Given the description of an element on the screen output the (x, y) to click on. 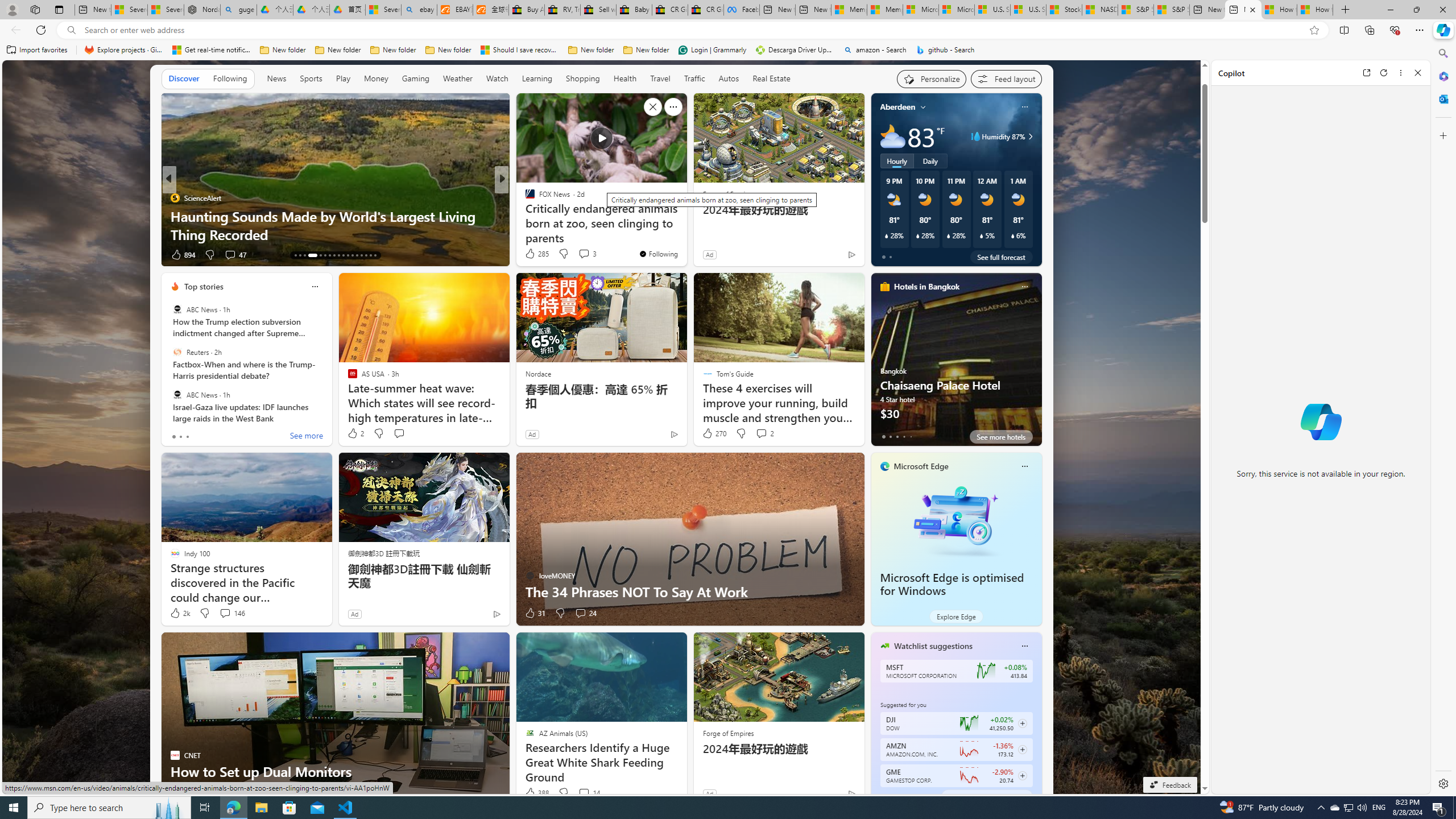
The Cool Down (524, 197)
Discover (183, 78)
Side bar (1443, 418)
AutomationID: tab-22 (343, 255)
Favorites bar (715, 49)
Humidity 87% (1028, 136)
Chaisaeng Palace Hotel (956, 363)
Class: icon-img (1024, 645)
See more (672, 106)
Address and search bar (692, 29)
Class: weather-current-precipitation-glyph (1012, 235)
Autos (729, 78)
Tom's Guide (524, 197)
